Given the description of an element on the screen output the (x, y) to click on. 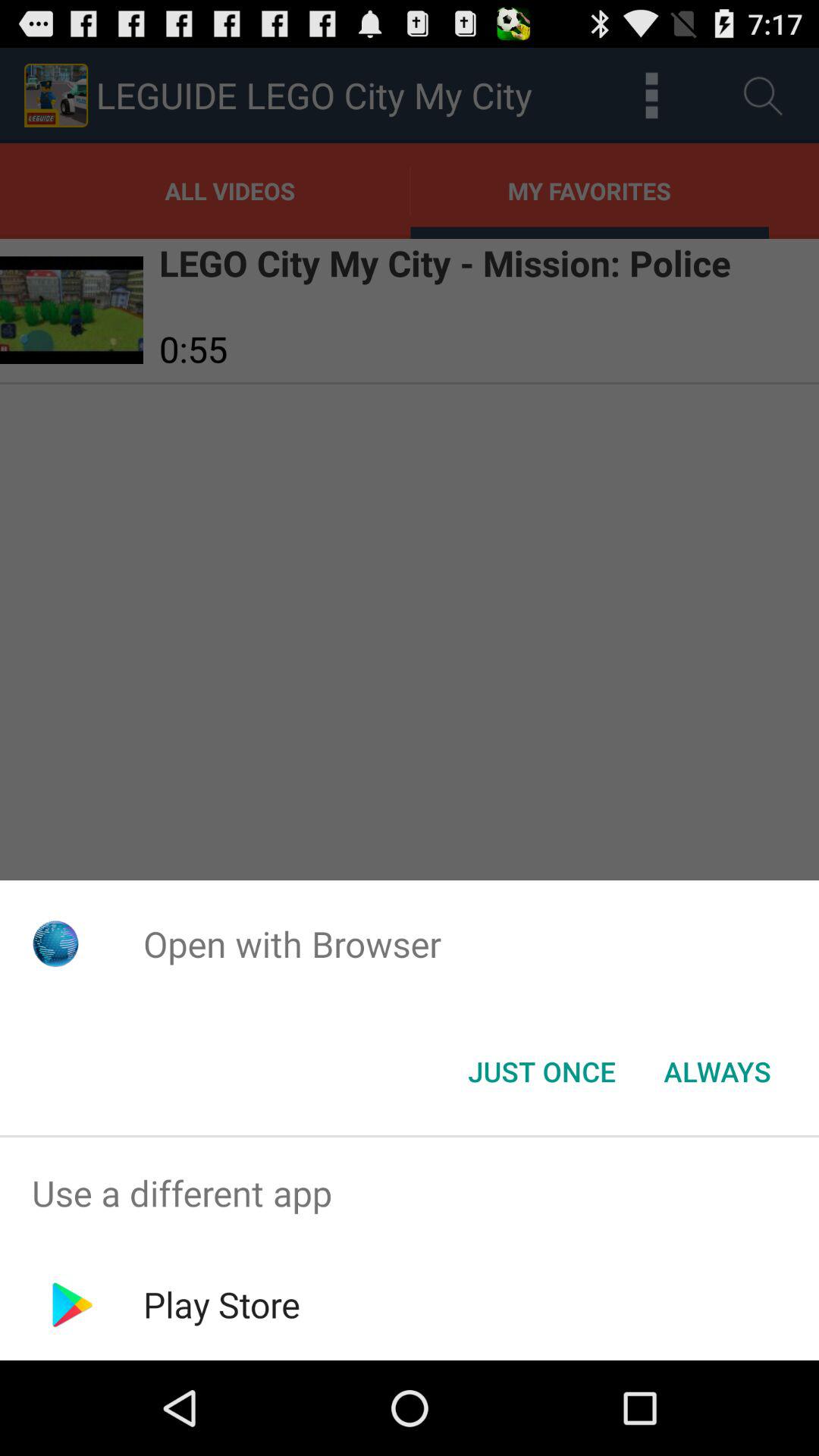
swipe until the play store icon (221, 1304)
